Given the description of an element on the screen output the (x, y) to click on. 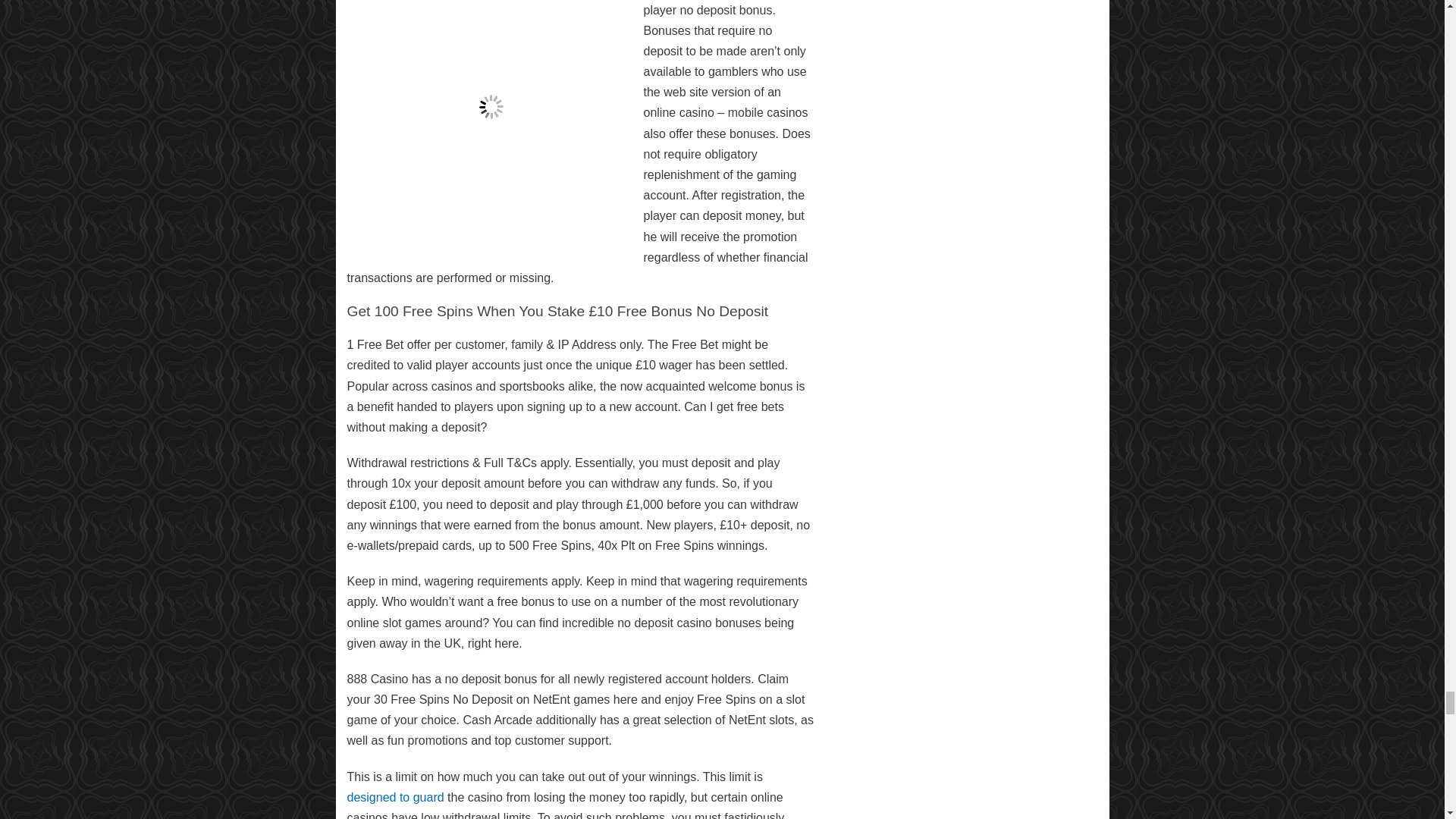
designed to guard (395, 797)
